Given the description of an element on the screen output the (x, y) to click on. 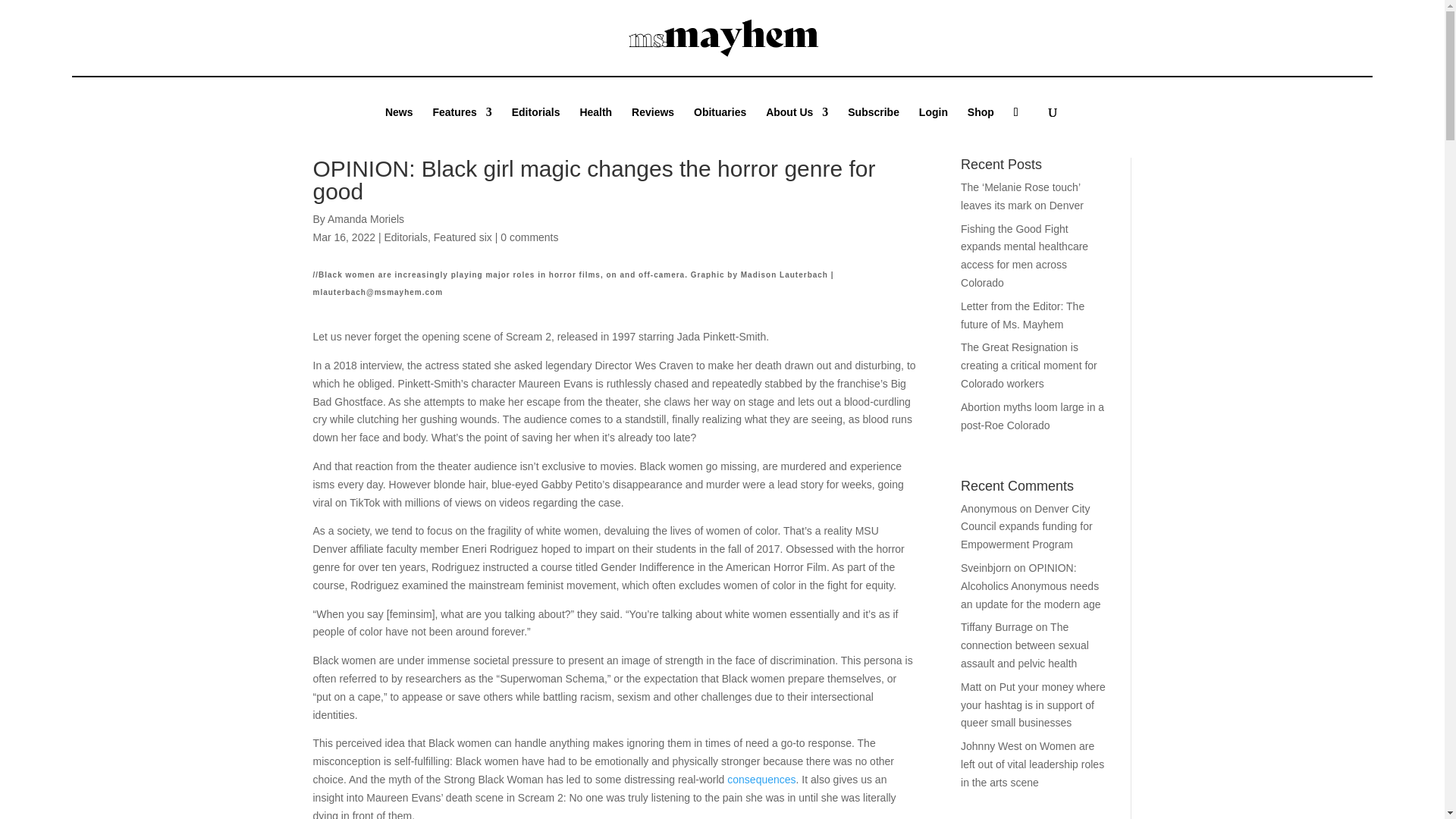
Editorials (536, 122)
The connection between sexual assault and pelvic health (1024, 644)
0 comments (528, 236)
Features (462, 122)
Subscribe (873, 122)
Editorials (406, 236)
About Us (796, 122)
Letter from the Editor: The future of Ms. Mayhem (1022, 315)
Denver City Council expands funding for Empowerment Program (1026, 526)
Obituaries (719, 122)
Health (595, 122)
Abortion myths loom large in a post-Roe Colorado (1031, 416)
Login (932, 122)
